Given the description of an element on the screen output the (x, y) to click on. 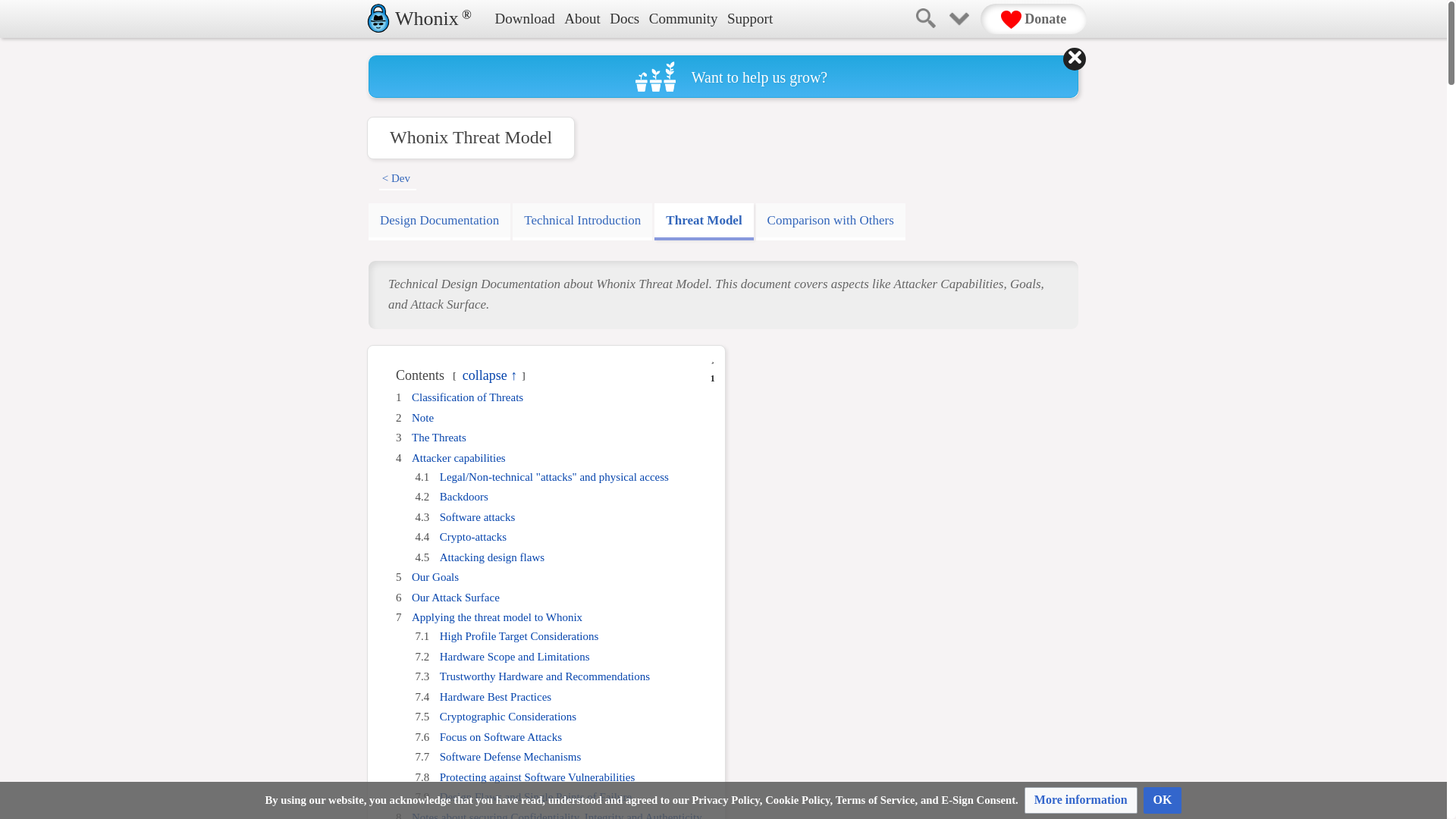
Comparison with Others (830, 221)
Support (746, 20)
homepage (424, 18)
Dev (400, 177)
Dev (400, 177)
Community (679, 20)
About (578, 20)
Whonix (424, 18)
Docs (620, 20)
Download (520, 20)
Want to help us grow? (723, 76)
Show all levels (712, 358)
Hide this notice for me (1074, 58)
Design (439, 221)
